Given the description of an element on the screen output the (x, y) to click on. 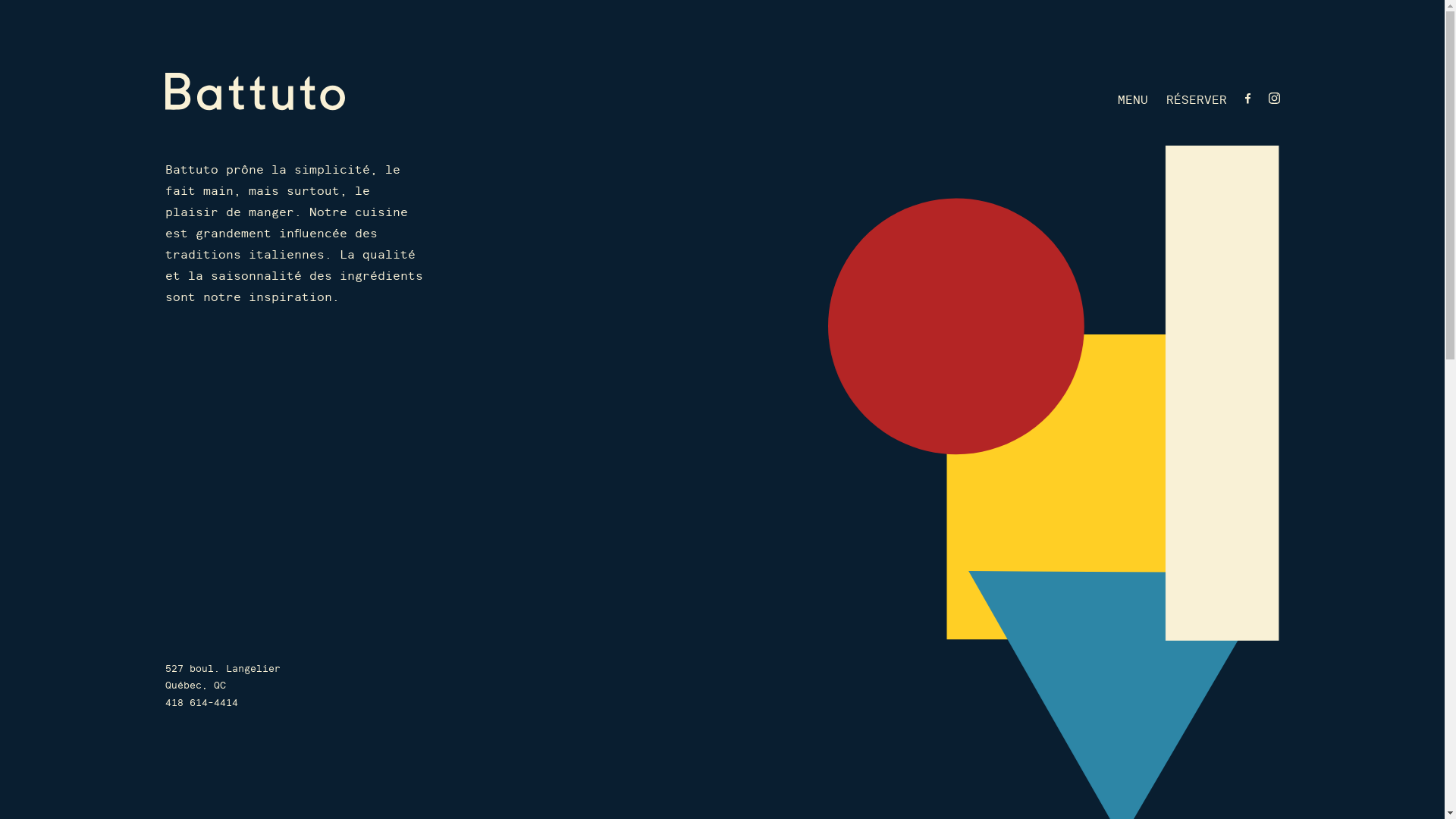
INSTAGRAM Element type: text (1273, 100)
FACEBOOK Element type: text (1247, 100)
BATTUTO Element type: text (255, 91)
MENU Element type: text (1132, 100)
